Given the description of an element on the screen output the (x, y) to click on. 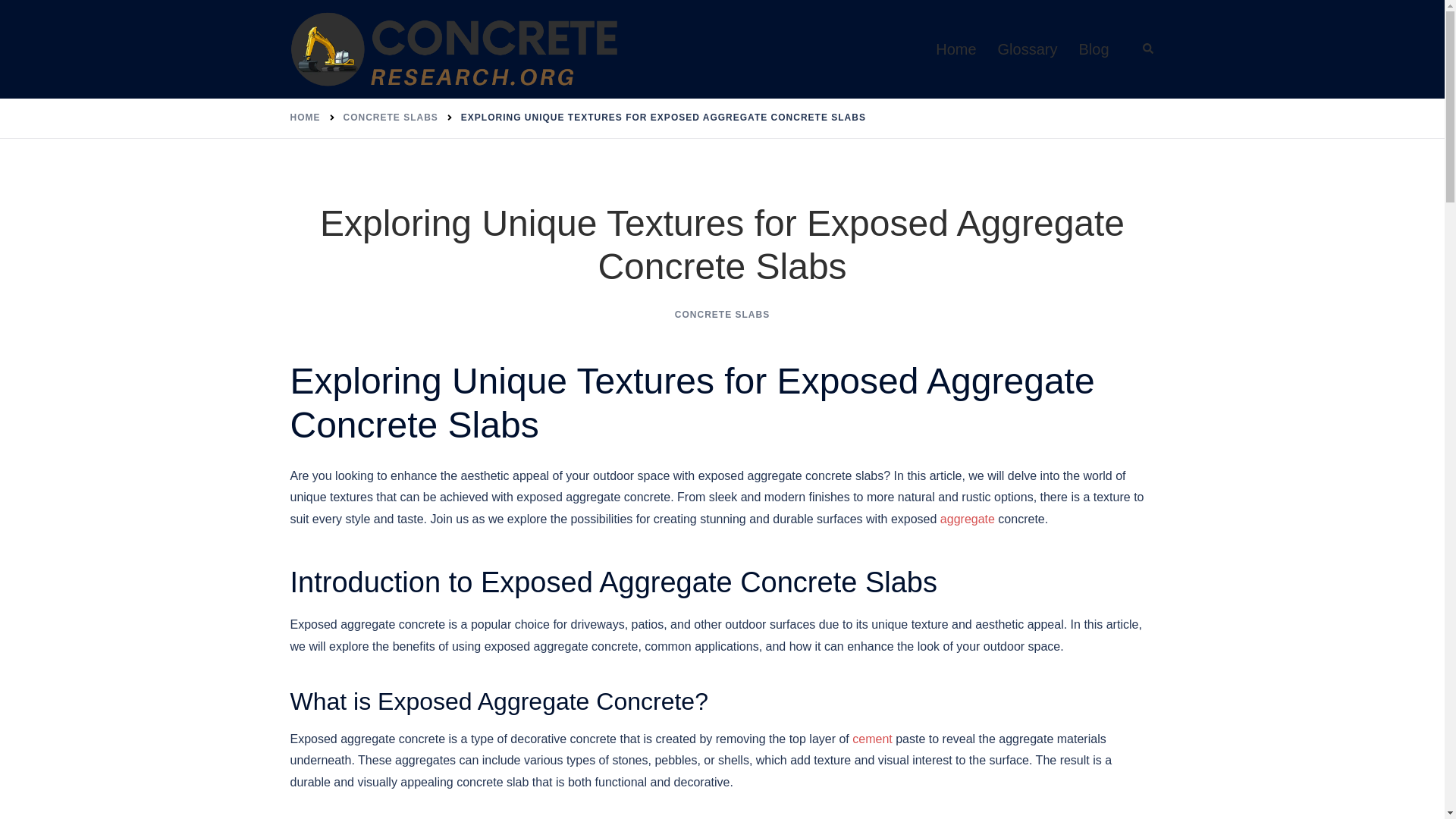
CONCRETE SLABS (722, 314)
Glossary (1027, 49)
HOME (304, 117)
cement (871, 738)
Home (955, 49)
aggregate (967, 518)
ConcreteResearch.org (454, 47)
CONCRETE SLABS (390, 117)
aggregate (967, 518)
Search (1147, 49)
Blog (1093, 49)
cement (871, 738)
